Given the description of an element on the screen output the (x, y) to click on. 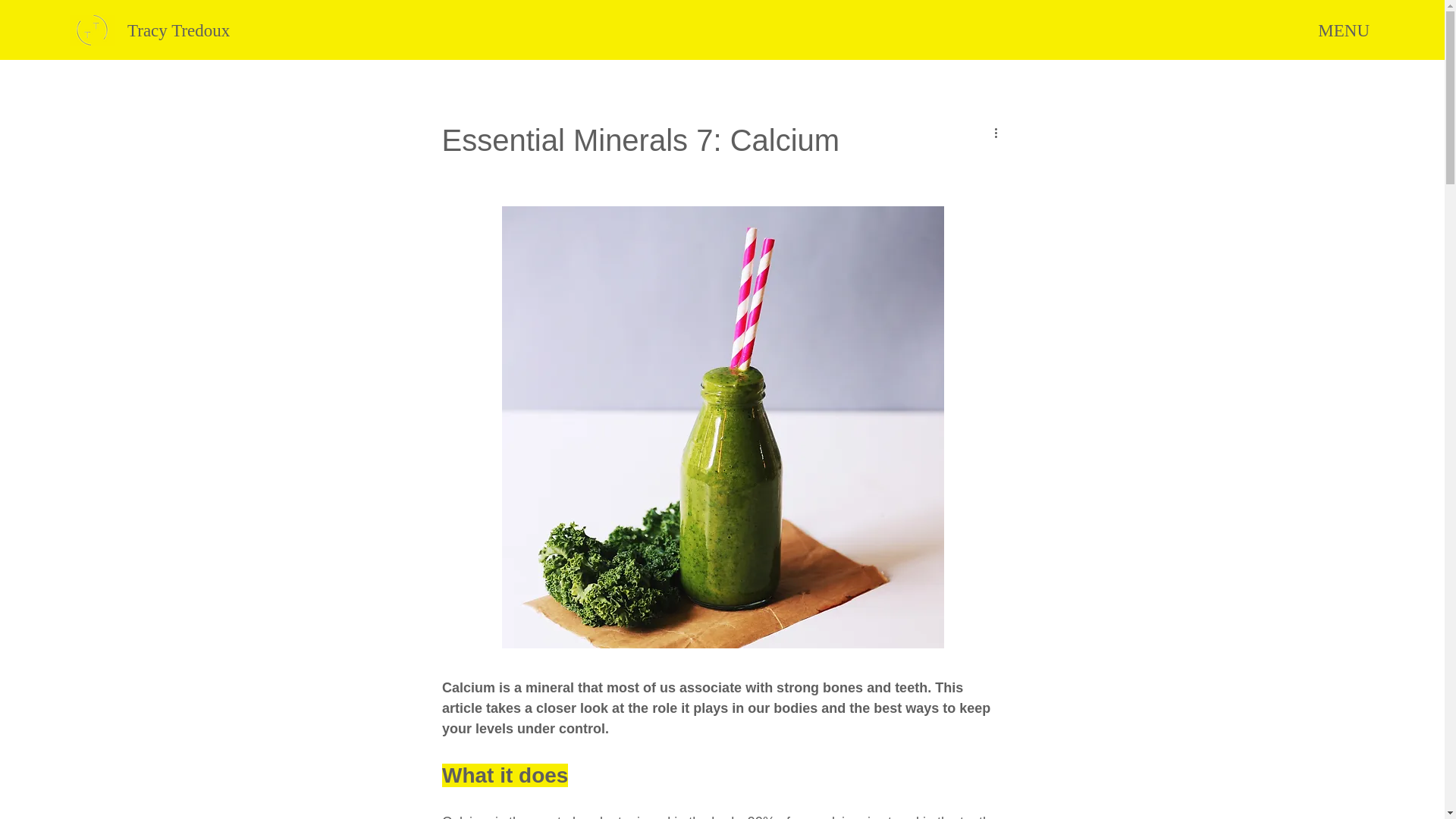
MENU (1343, 30)
Tracy Tredoux (179, 30)
